Given the description of an element on the screen output the (x, y) to click on. 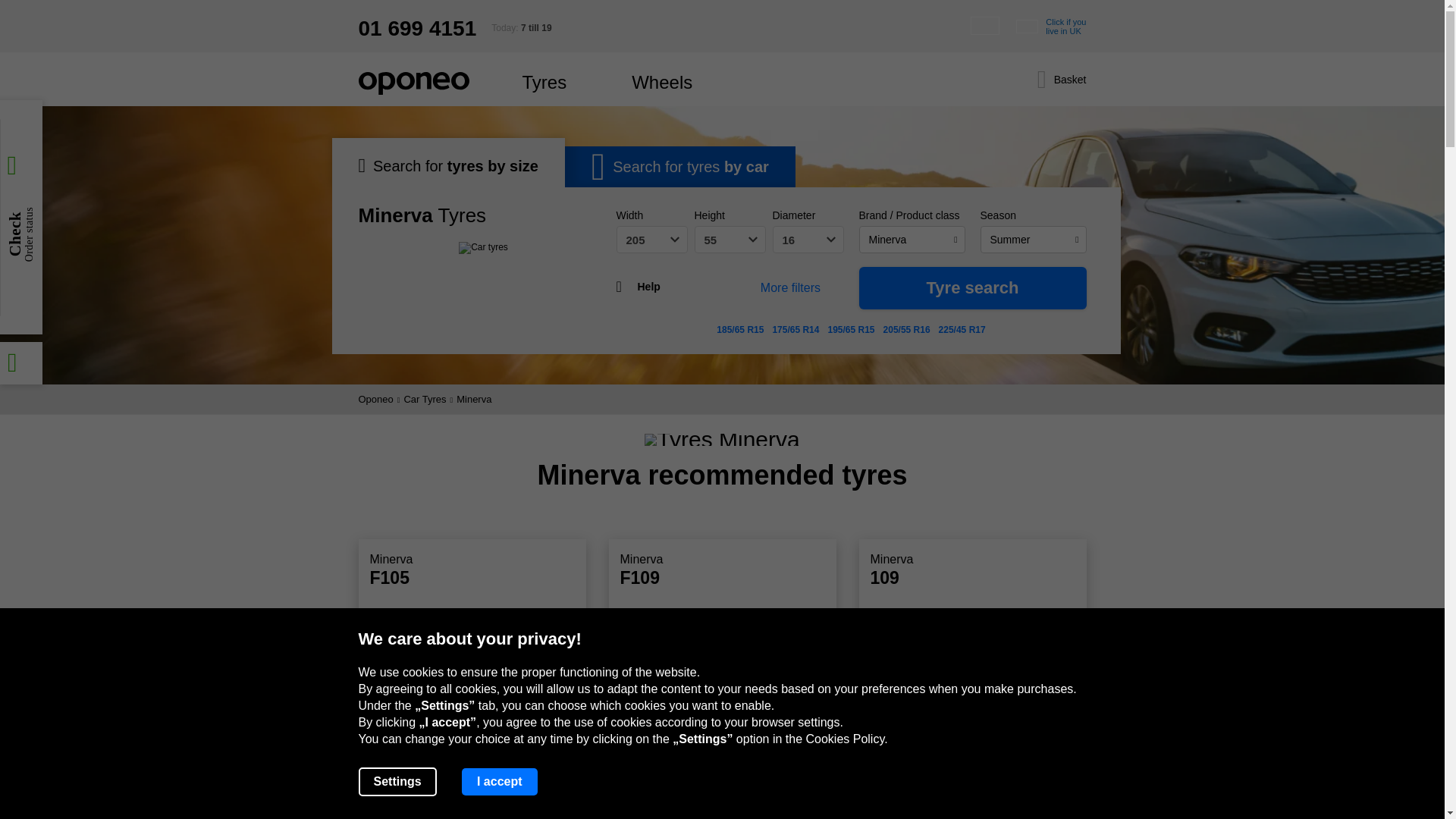
Help (640, 286)
Tyre search (972, 287)
Search for tyres by car (1051, 25)
More filters (679, 166)
Oponeo - buy tyres online (790, 287)
Search for tyres by size (413, 83)
